Given the description of an element on the screen output the (x, y) to click on. 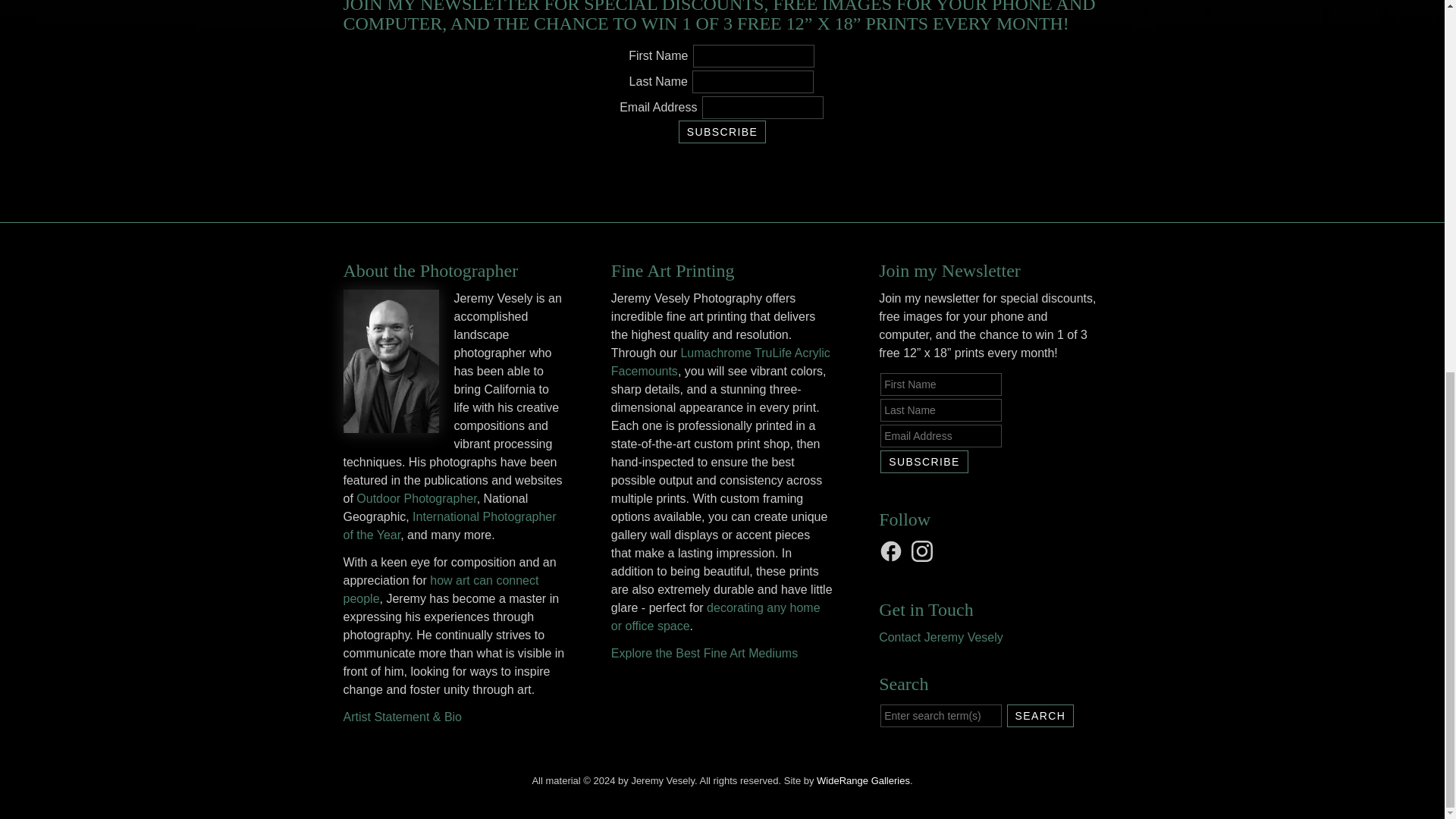
International Photographer of the Year (449, 525)
how art can connect people (440, 589)
Subscribe (722, 131)
Follow on Facebook (893, 549)
Outdoor Photographer (416, 498)
Explore the Best Fine Art Mediums (704, 653)
Follow on Instagram (924, 549)
Instagram icon (922, 550)
Instagram icon (924, 549)
WideRange Galleries (863, 780)
Subscribe (924, 461)
Subscribe (924, 461)
Lumachrome TruLife Acrylic Facemounts (720, 361)
decorating any home or office space (716, 616)
Contact Jeremy Vesely (941, 636)
